Given the description of an element on the screen output the (x, y) to click on. 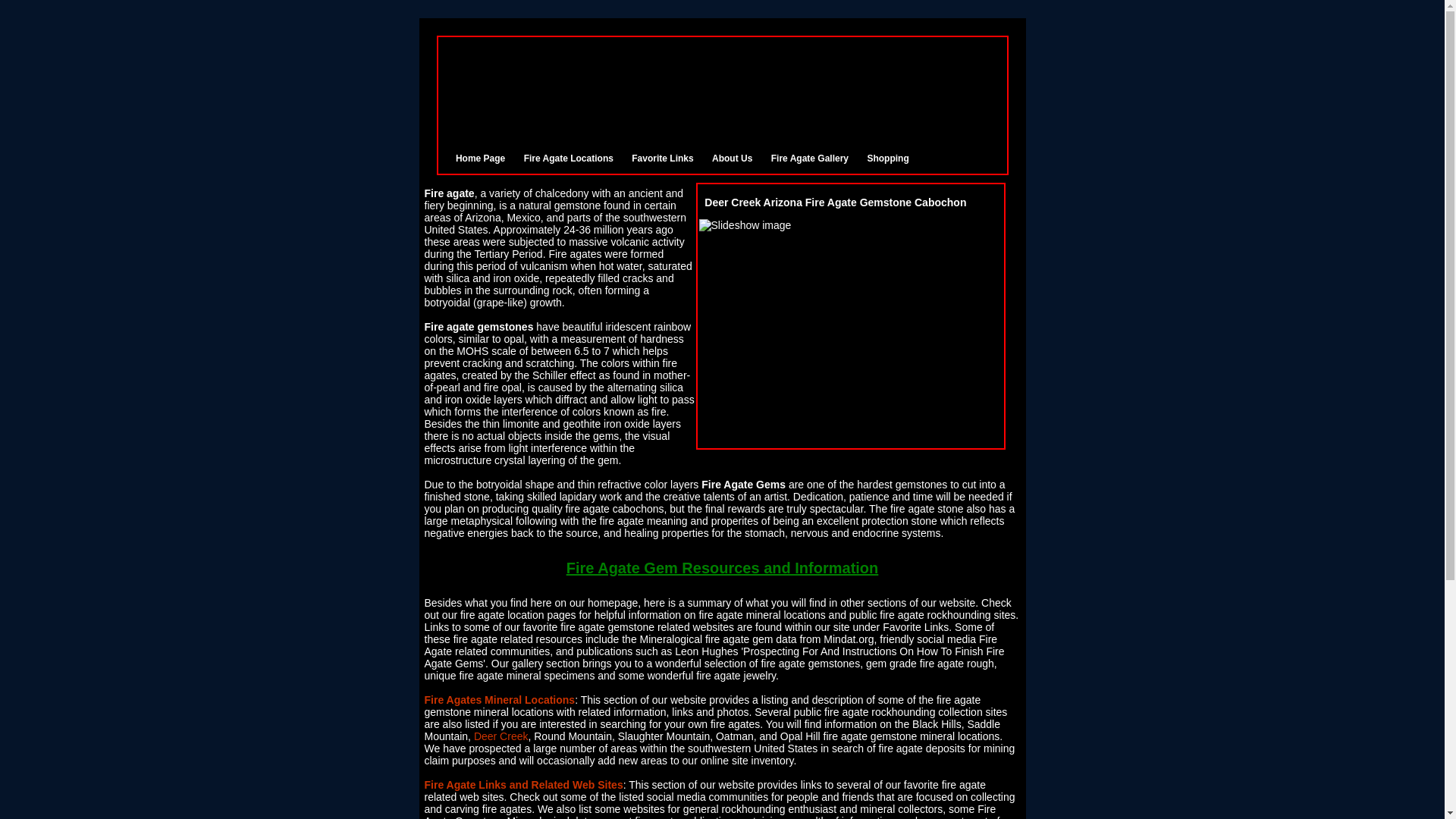
Fire Agate Locations (568, 158)
Favorite Links (662, 158)
Fire Agate Gem Locations (500, 699)
Fire Agate Gallery (809, 158)
Home Page (480, 158)
About Us (731, 158)
Fire Agate Gemstone Links (524, 784)
Fire Agate US Home Page (480, 158)
Shopping (887, 158)
Fire Agate Gallery (809, 158)
Fire Agates Links Page (662, 158)
Fire Agate Shopping - Buy Fire Agates (887, 158)
Fire Agate US Information (731, 158)
Fire Agate Links and Related Web Sites (524, 784)
Fire Agates Mineral Locations (500, 699)
